Given the description of an element on the screen output the (x, y) to click on. 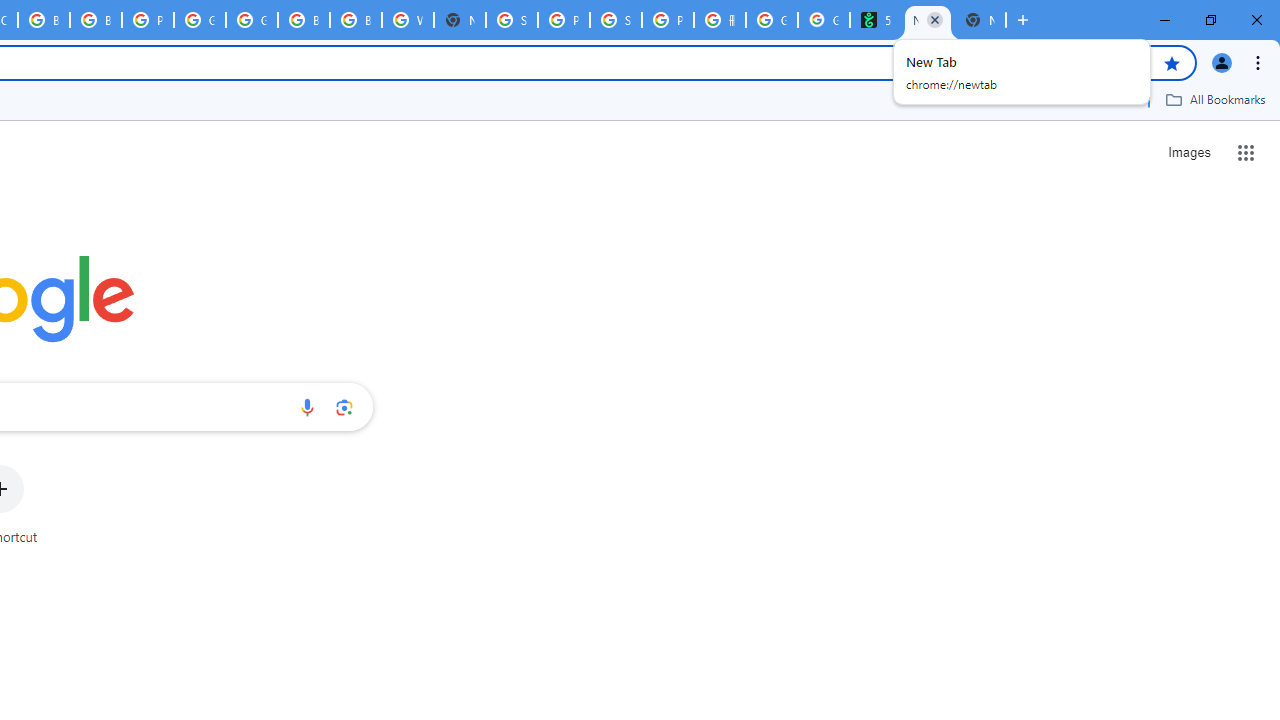
Sign in - Google Accounts (511, 20)
New Tab (979, 20)
